Given the description of an element on the screen output the (x, y) to click on. 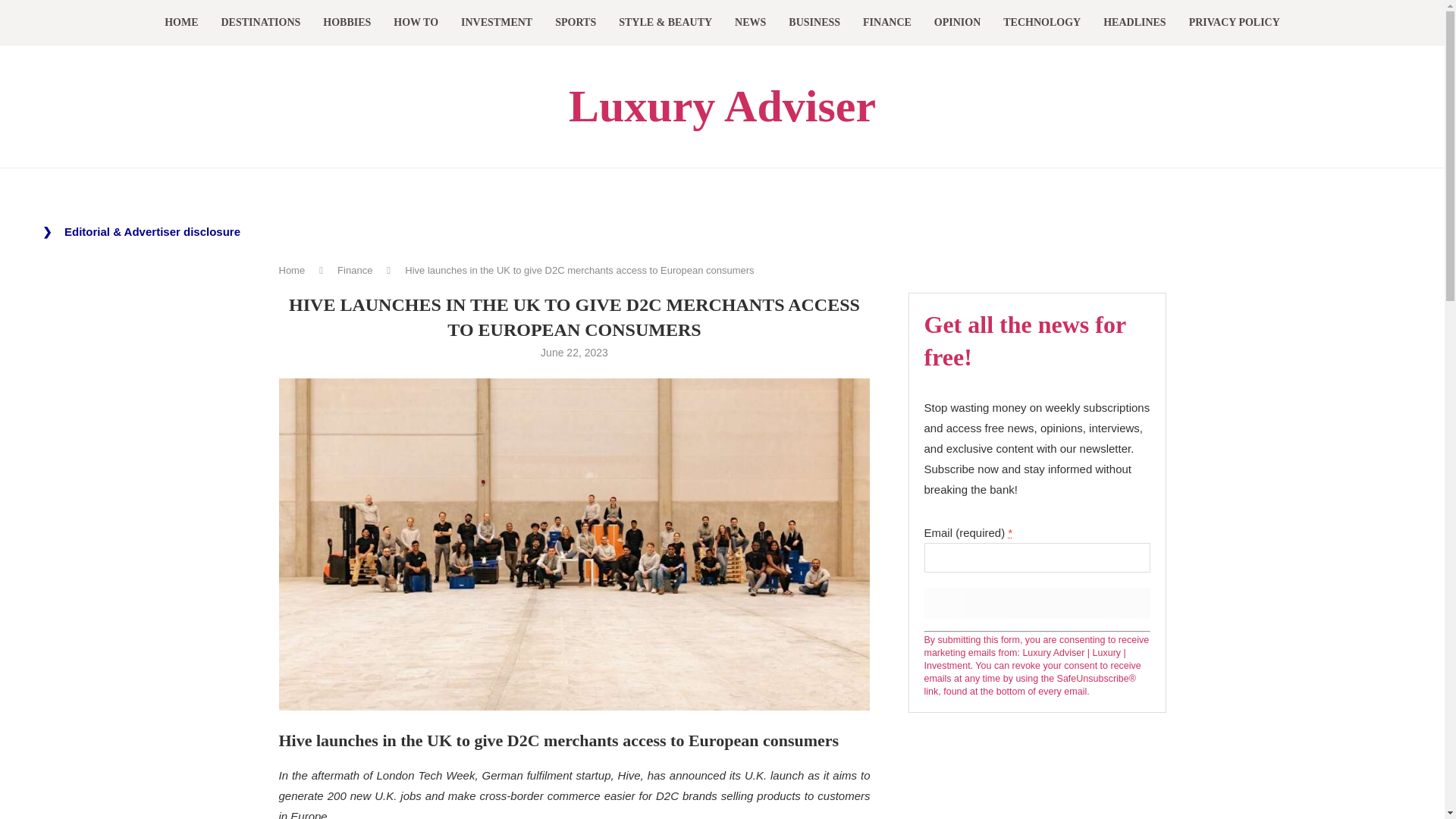
HEADLINES (1134, 22)
TECHNOLOGY (1041, 22)
Sign up! (1036, 603)
Luxury Adviser (722, 106)
BUSINESS (814, 22)
Home (292, 270)
INVESTMENT (496, 22)
Finance (354, 270)
HOW TO (415, 22)
